Given the description of an element on the screen output the (x, y) to click on. 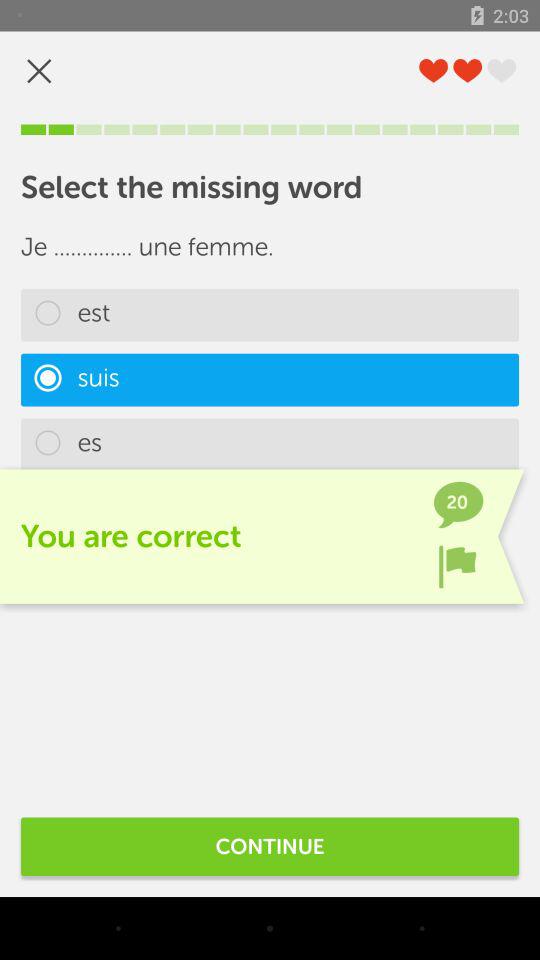
flag issue (457, 566)
